Given the description of an element on the screen output the (x, y) to click on. 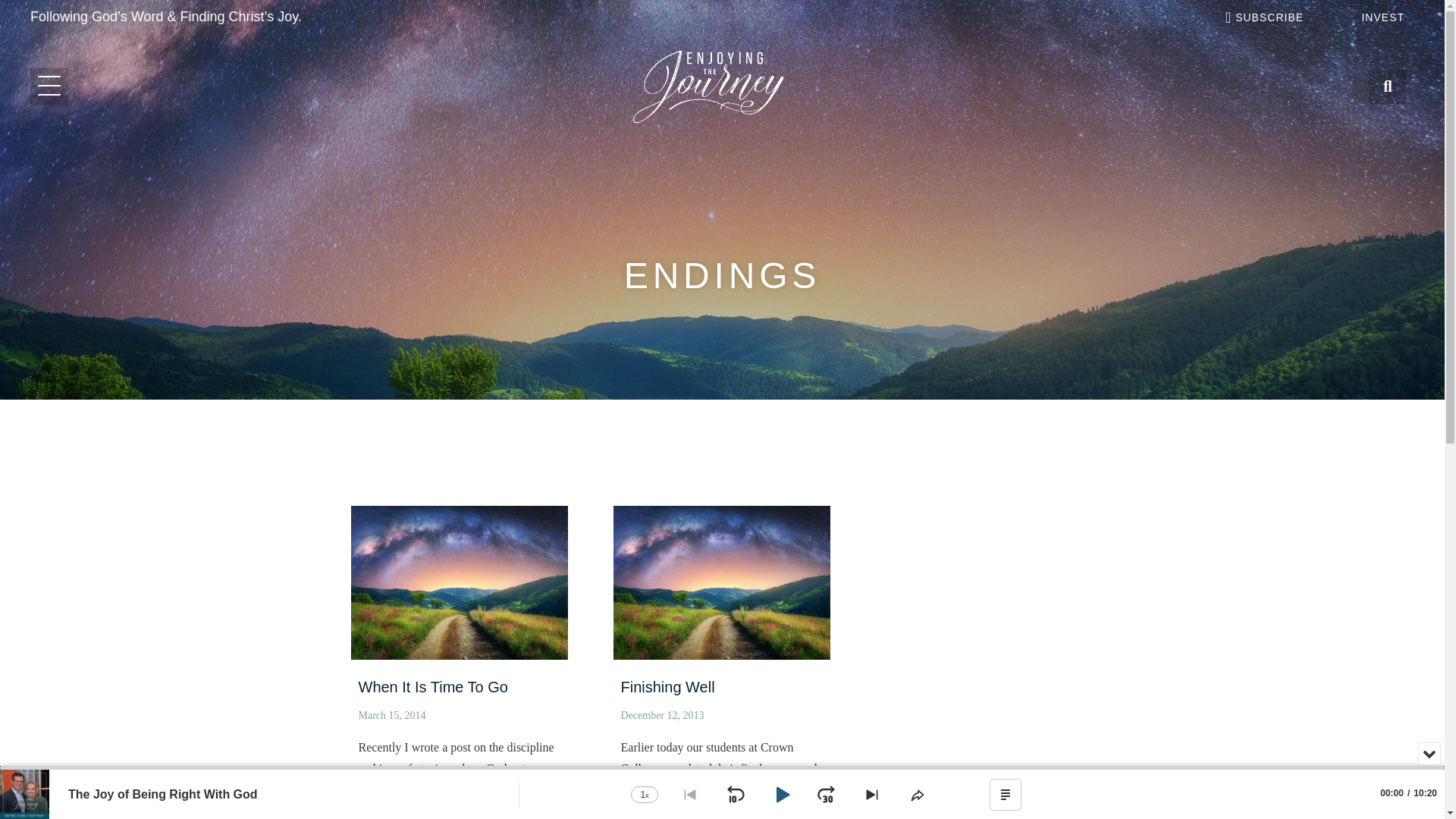
etj-logo (707, 86)
INVEST (1376, 17)
SUBSCRIBE (1262, 17)
